Given the description of an element on the screen output the (x, y) to click on. 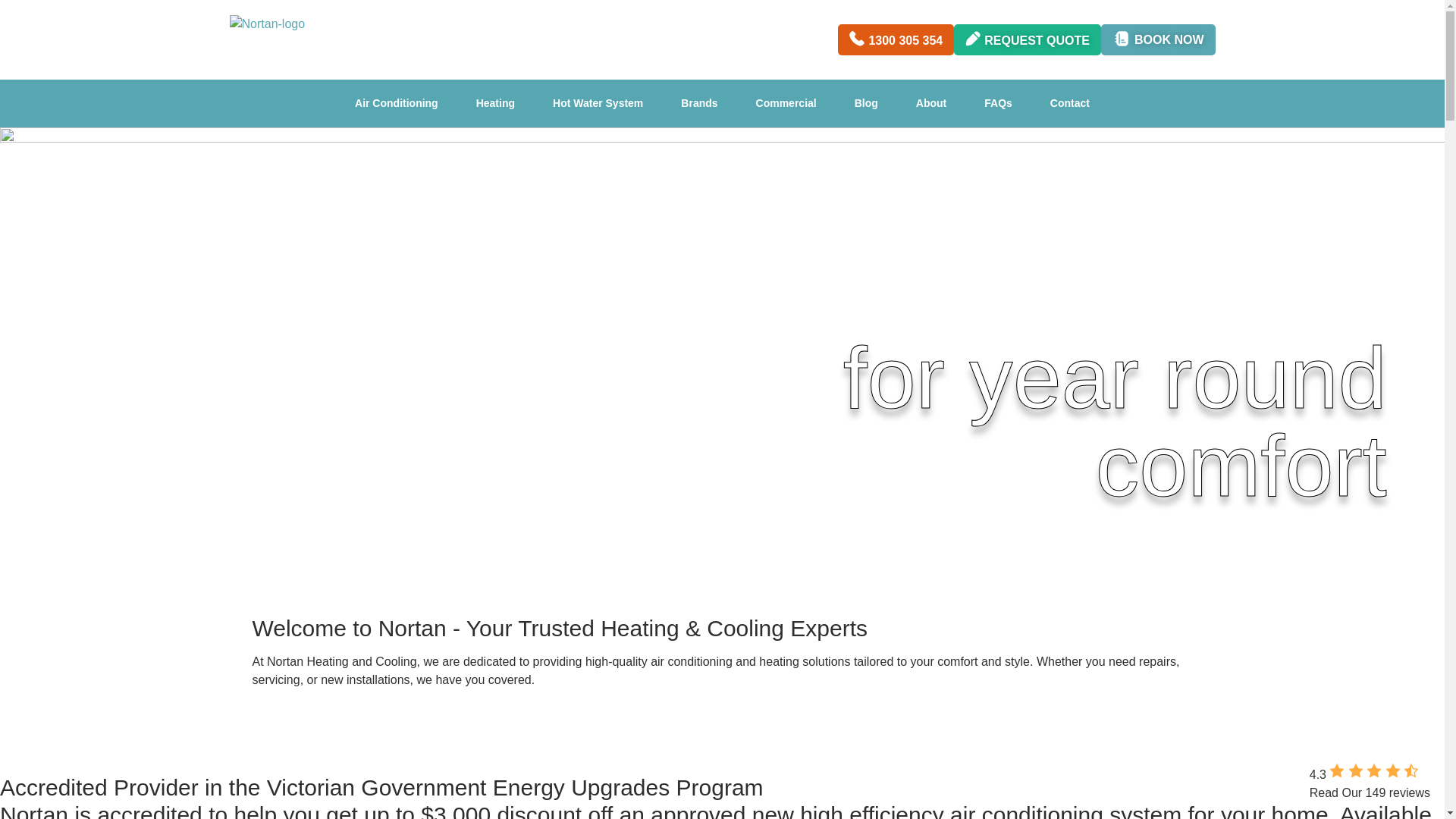
BOOK NOW (1157, 39)
REQUEST QUOTE (1026, 39)
Air Conditioning (396, 103)
1300 305 354 (895, 39)
Heating (495, 103)
Hot Water System (598, 103)
